Given the description of an element on the screen output the (x, y) to click on. 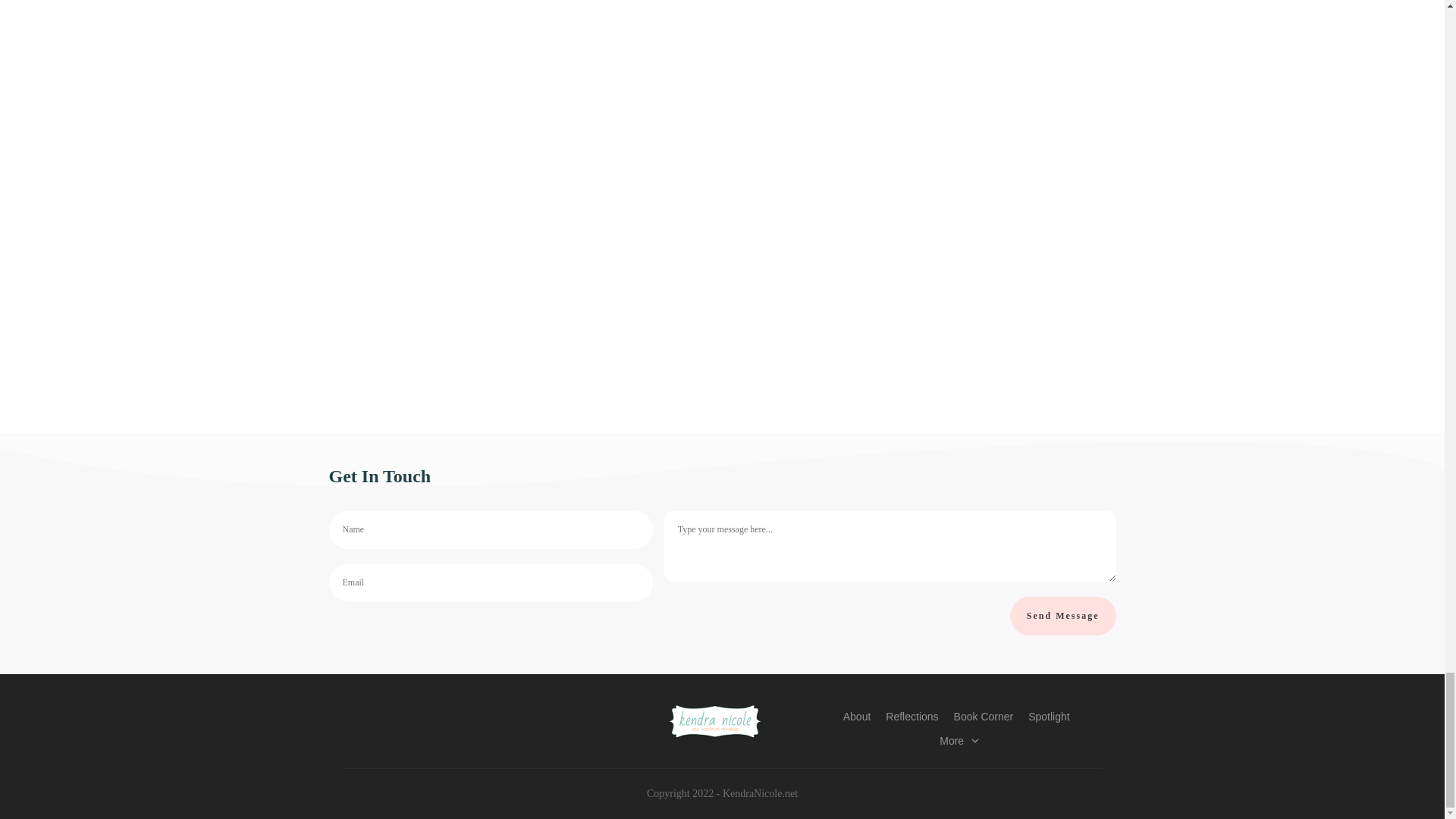
About (856, 715)
Send Message (1063, 615)
More (959, 740)
Spotlight (1047, 715)
Book Corner (983, 715)
Reflections (911, 715)
